Given the description of an element on the screen output the (x, y) to click on. 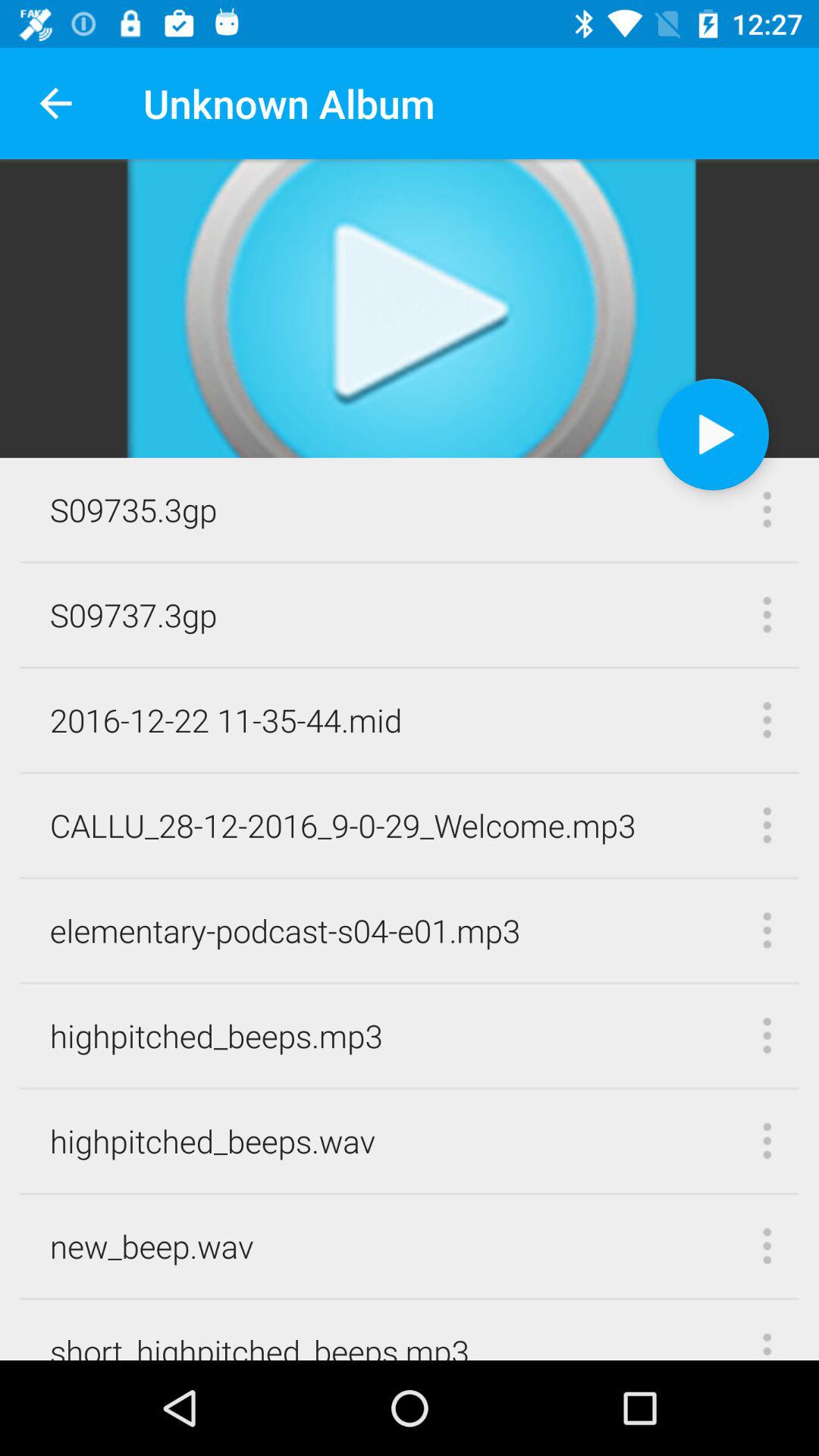
tap icon at the top left corner (55, 103)
